Given the description of an element on the screen output the (x, y) to click on. 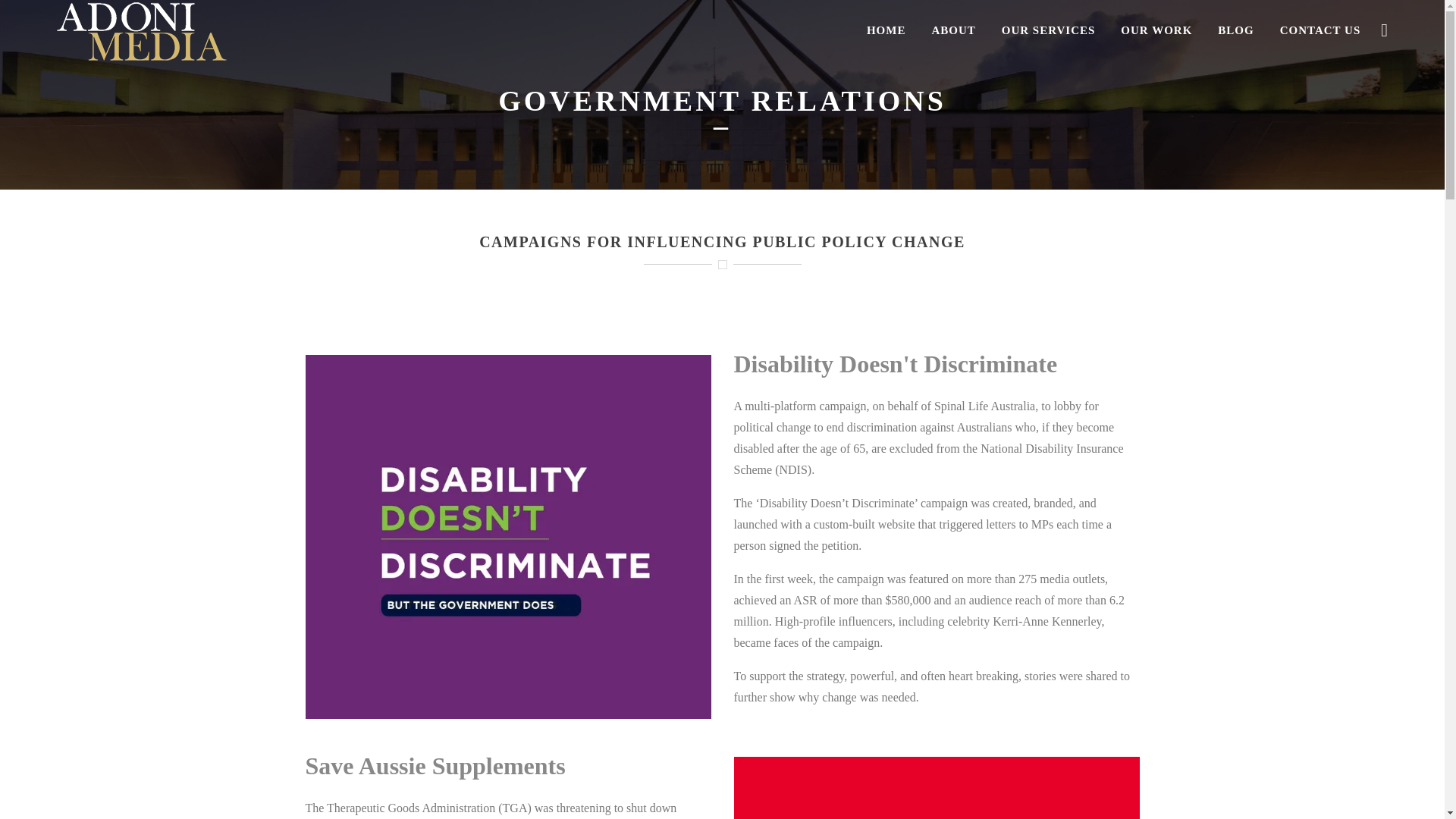
CONTACT US (1320, 29)
HOME (886, 29)
OUR SERVICES (1048, 29)
OUR WORK (1156, 29)
ABOUT (952, 29)
BLOG (1235, 29)
